Given the description of an element on the screen output the (x, y) to click on. 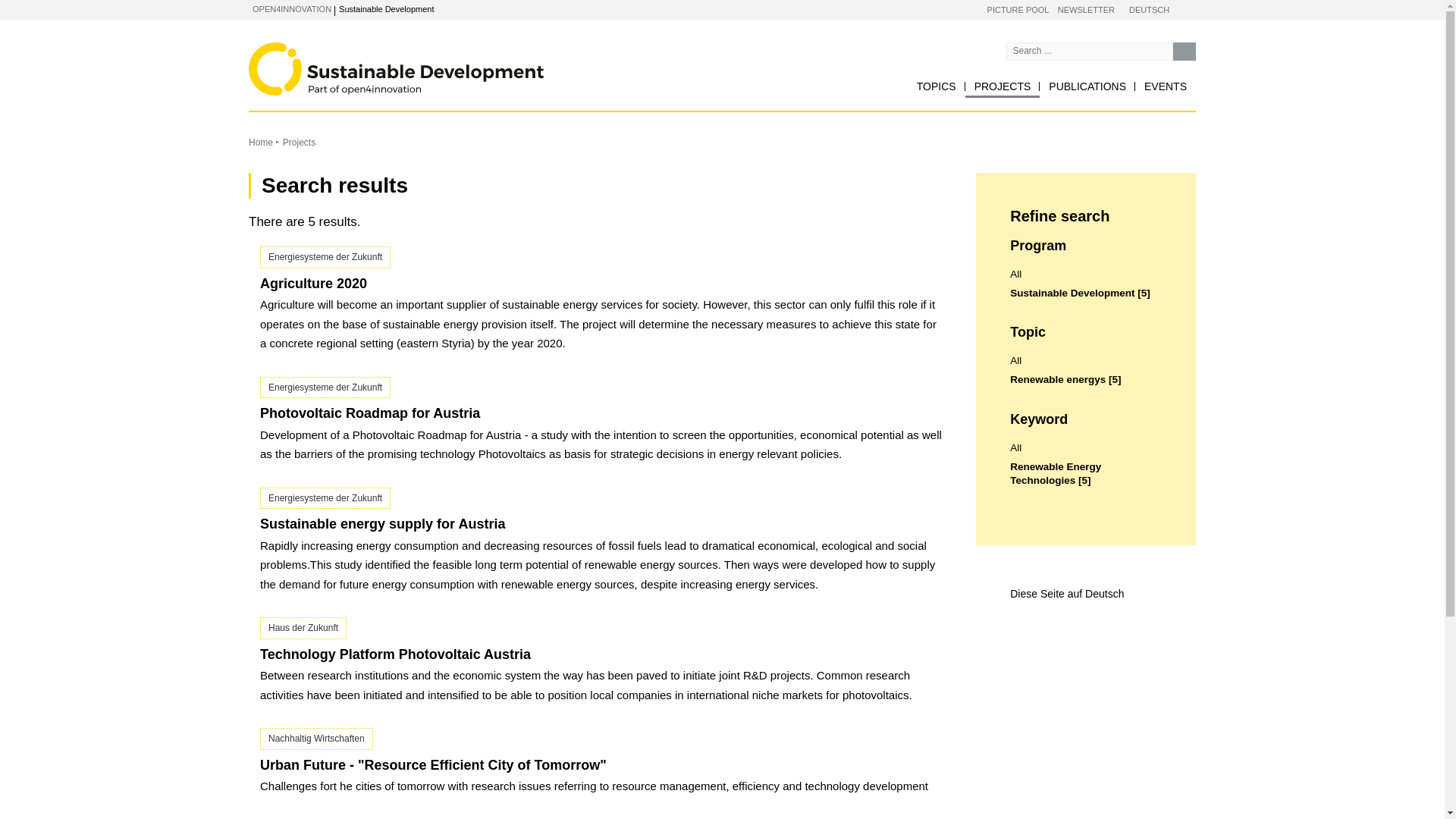
PROJECTS (1003, 86)
OPEN4INNOVATION (291, 9)
Search ... (1184, 51)
TOPICS (936, 86)
PUBLICATIONS (1087, 86)
NEWSLETTER (1086, 10)
Show (362, 10)
PICTURE POOL (1018, 10)
DEUTSCH (1149, 10)
